Given the description of an element on the screen output the (x, y) to click on. 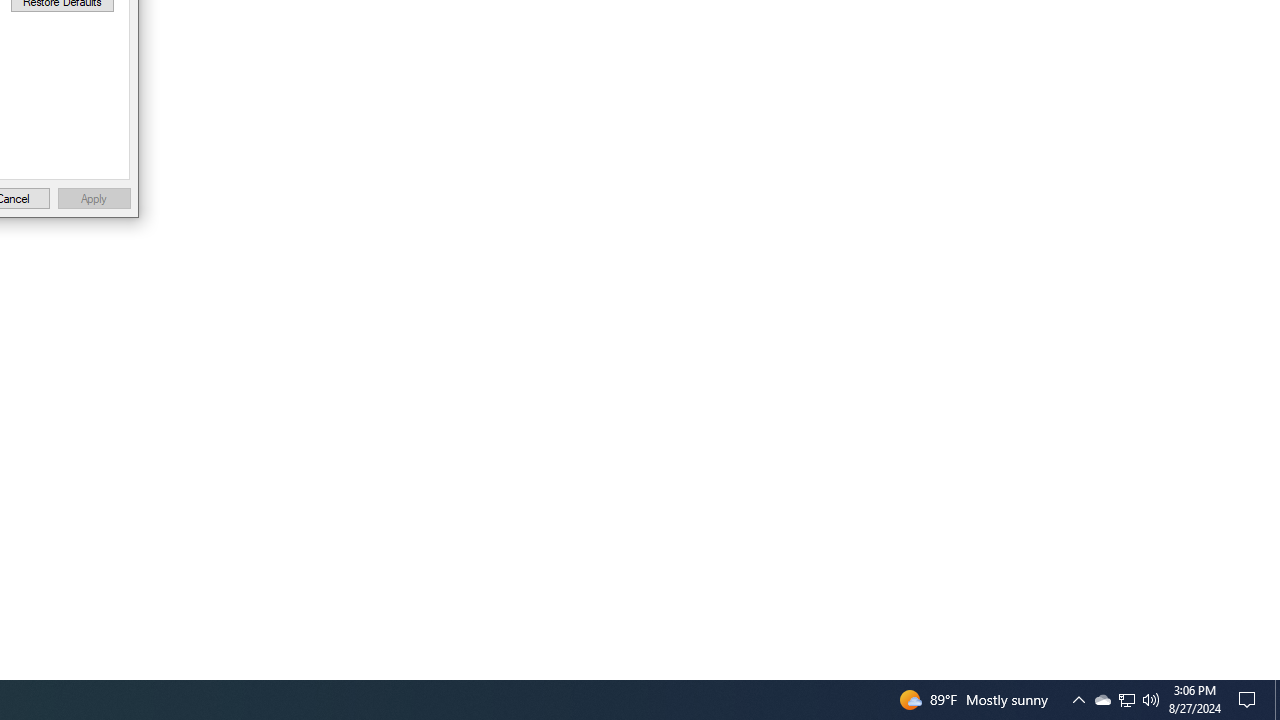
Show desktop (1277, 699)
Q2790: 100% (1151, 699)
Apply (94, 198)
User Promoted Notification Area (1126, 699)
Action Center, No new notifications (1102, 699)
Notification Chevron (1126, 699)
